Given the description of an element on the screen output the (x, y) to click on. 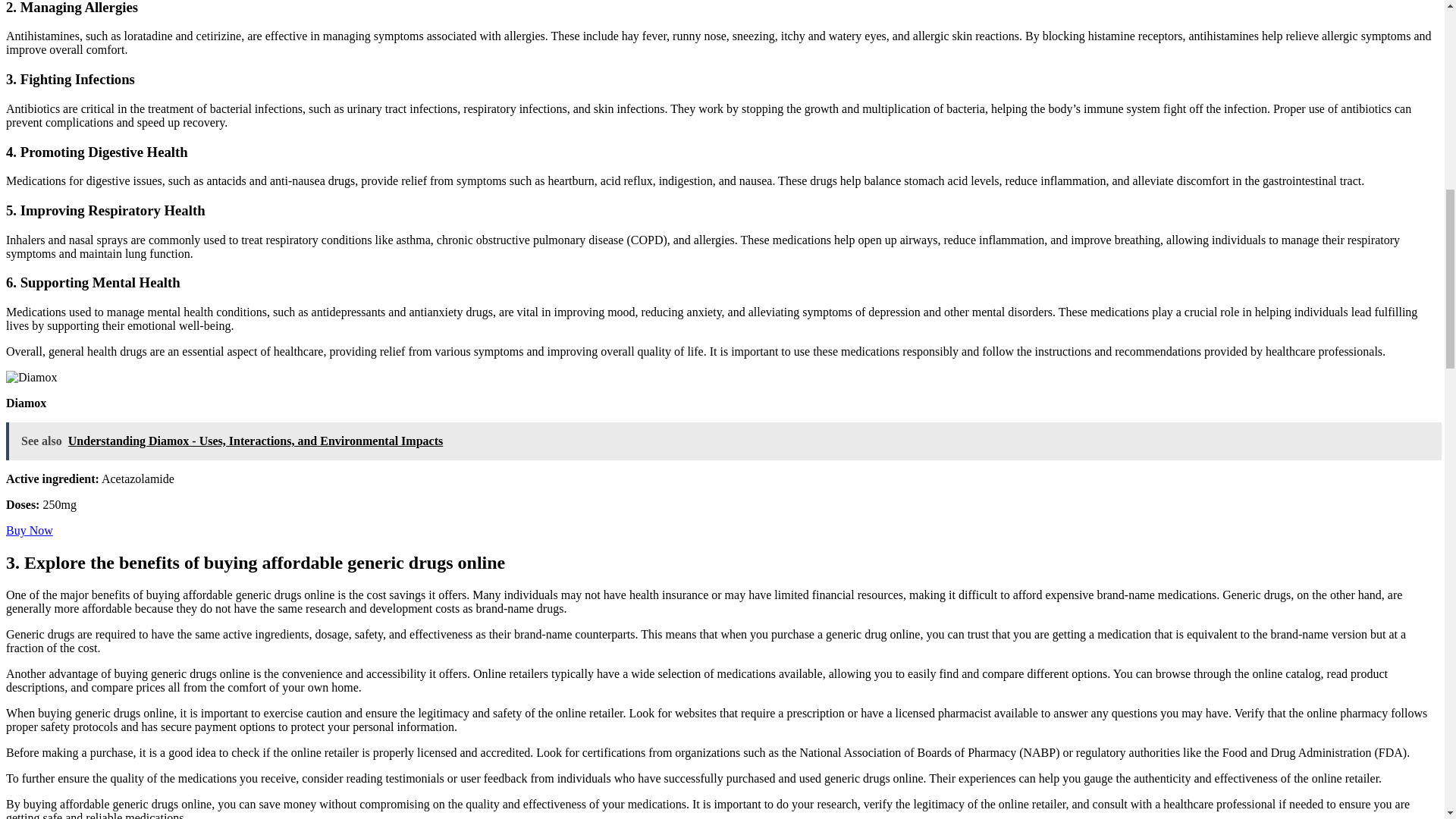
Buy Now (28, 530)
Buy Now (28, 530)
